Given the description of an element on the screen output the (x, y) to click on. 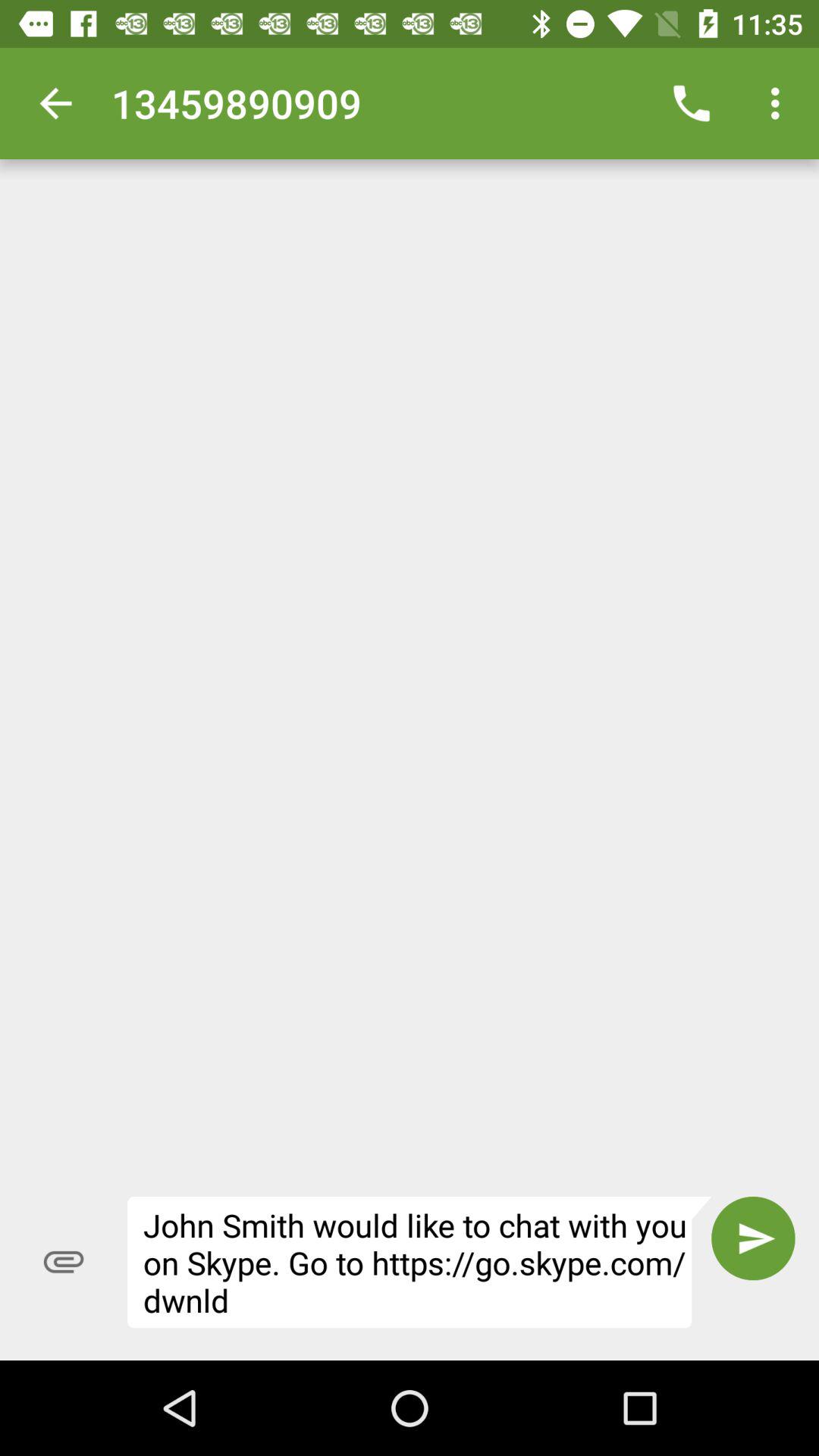
tap the item to the right of the john smith would icon (753, 1238)
